Given the description of an element on the screen output the (x, y) to click on. 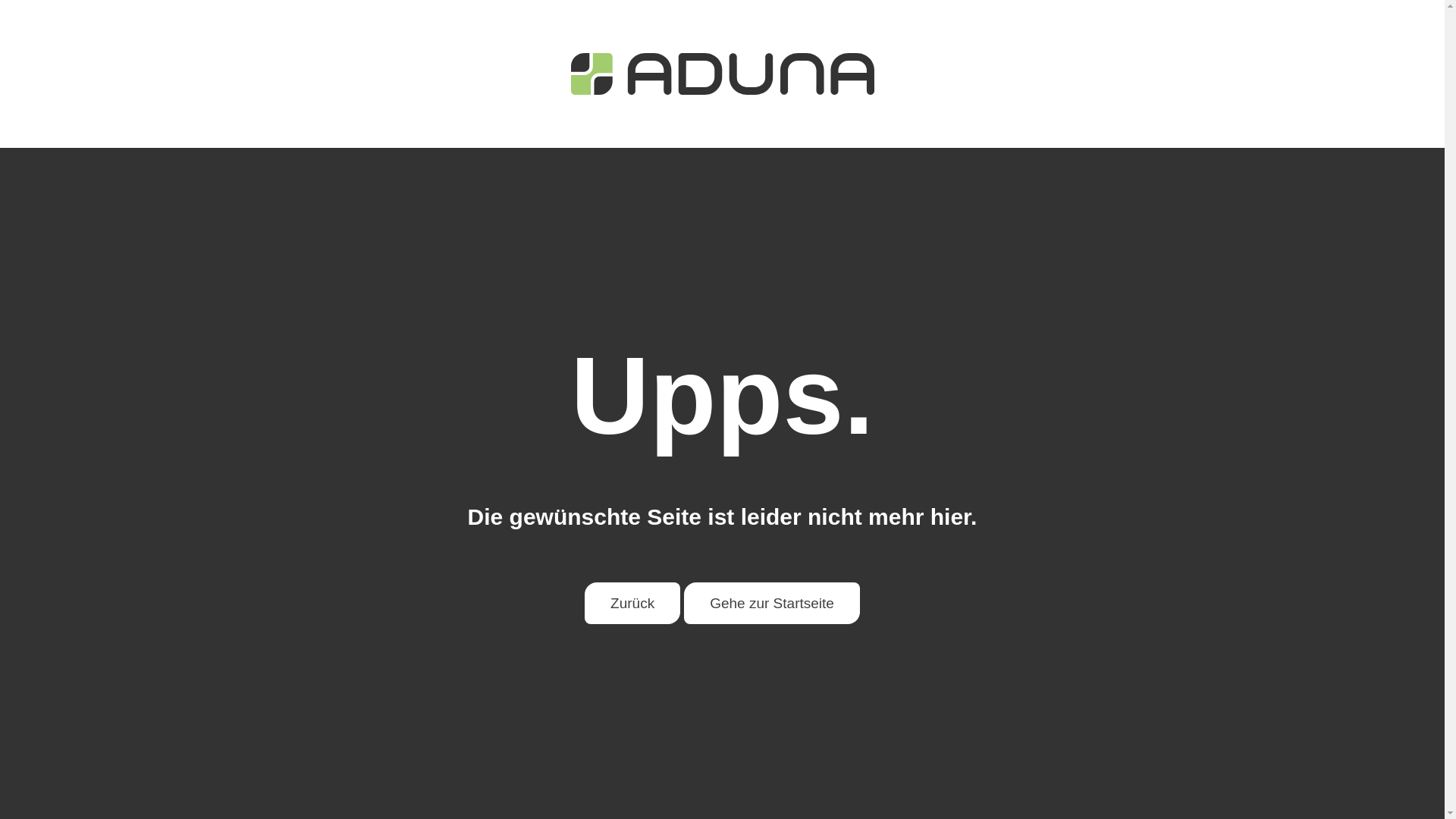
Gehe zur Startseite Element type: text (771, 603)
